Given the description of an element on the screen output the (x, y) to click on. 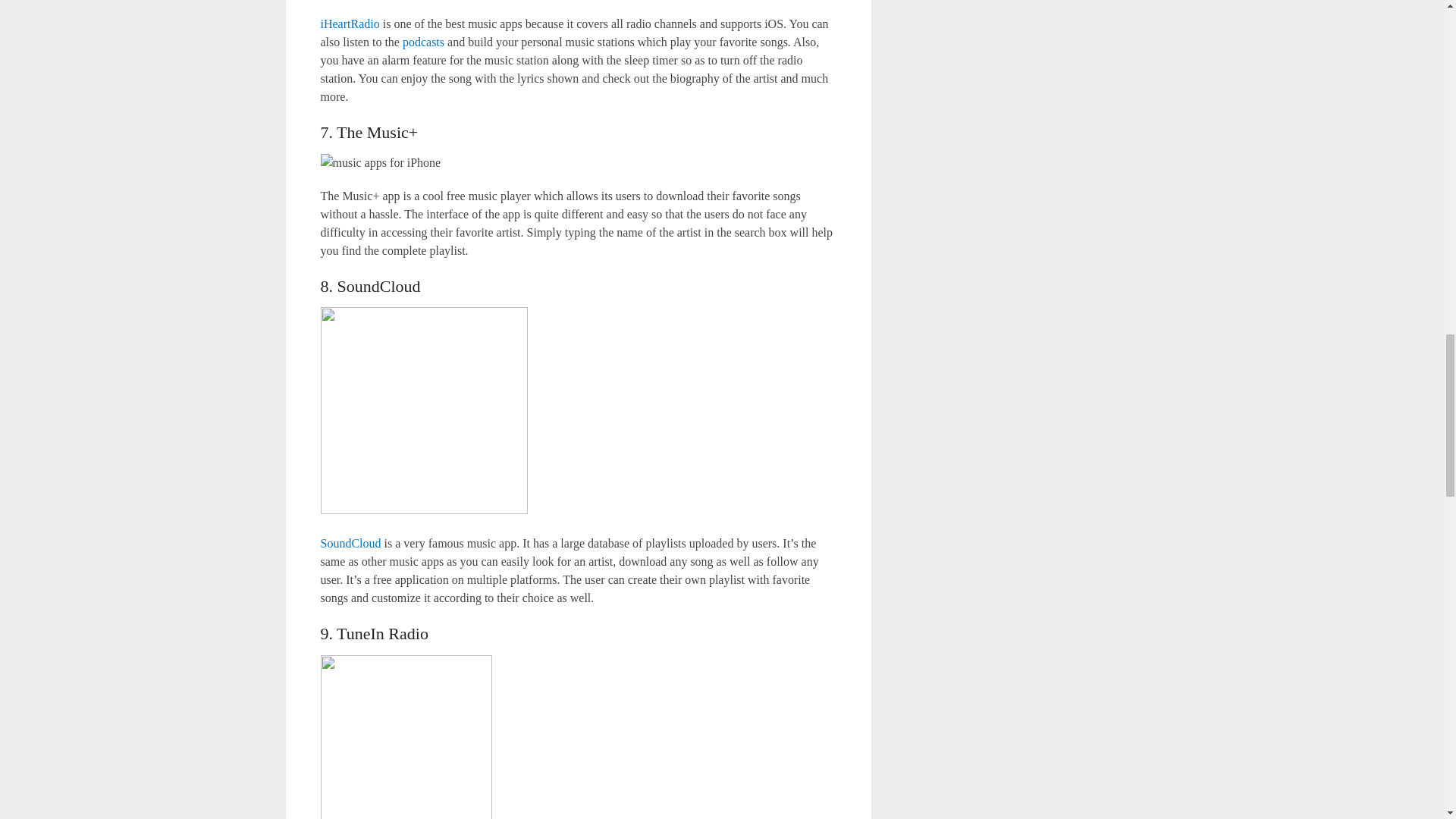
SoundCloud (350, 543)
iHeartRadio (349, 23)
podcasts (423, 42)
